Given the description of an element on the screen output the (x, y) to click on. 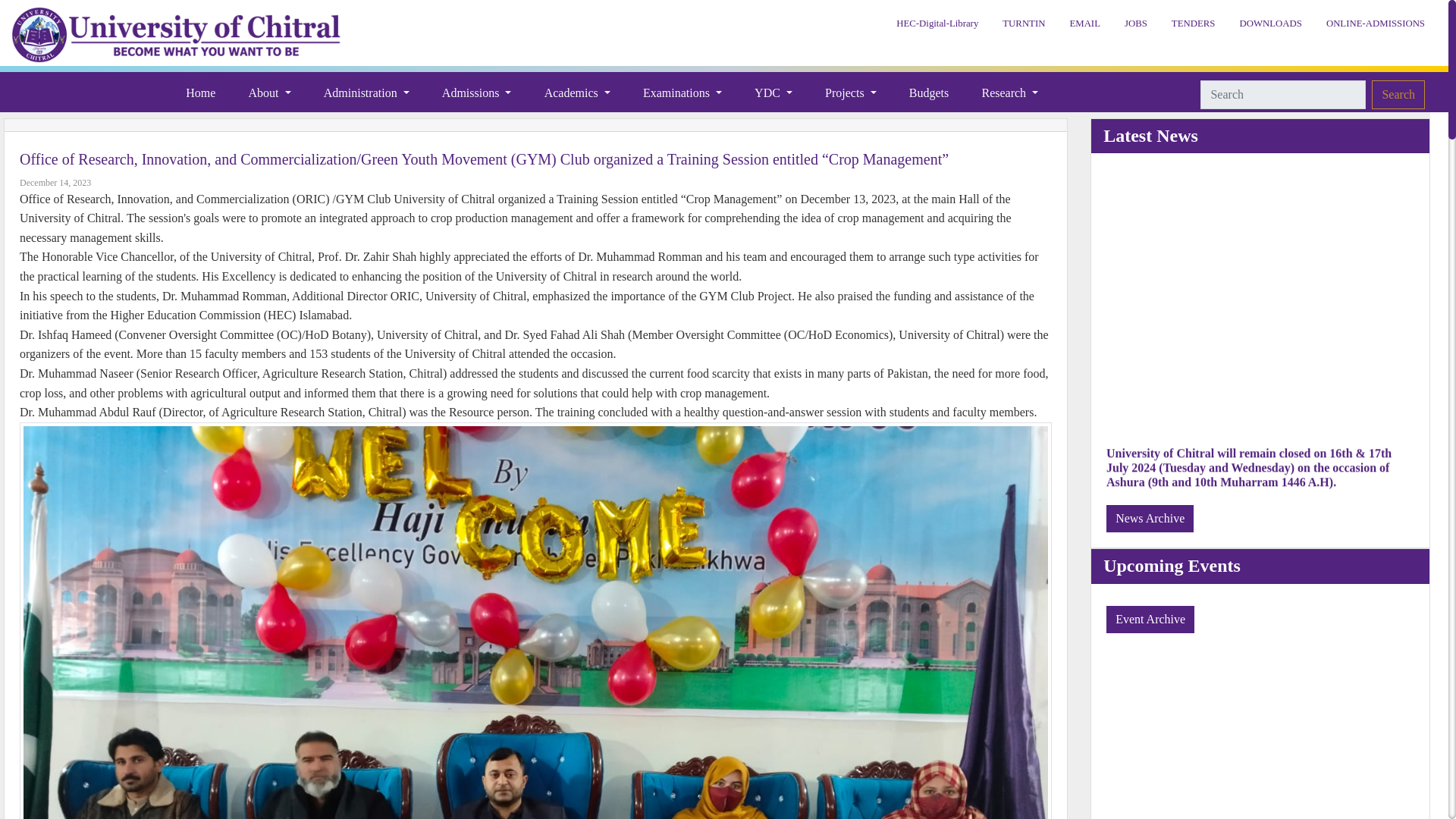
DOWNLOADS (1270, 23)
Home (200, 94)
HEC-Digital-Library (936, 23)
EMAIL (1084, 23)
TURNTIN (1023, 23)
ONLINE-ADMISSIONS (1375, 23)
Administration (365, 94)
Admissions (476, 94)
About (270, 94)
JOBS (1135, 23)
TENDERS (1192, 23)
